Given the description of an element on the screen output the (x, y) to click on. 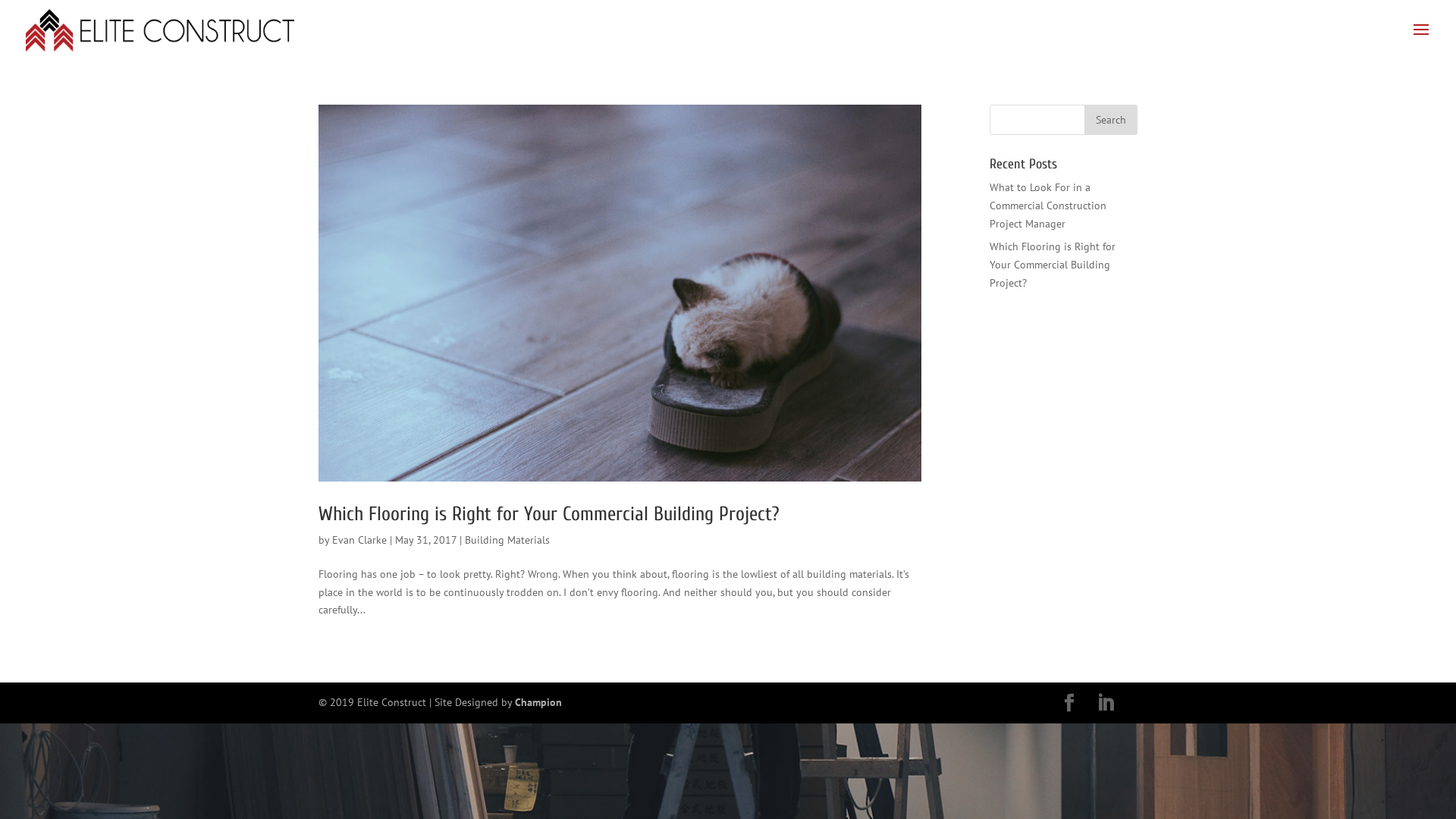
Building Materials Element type: text (506, 539)
Evan Clarke Element type: text (359, 539)
Search Element type: text (1110, 119)
Champion Element type: text (537, 702)
